Given the description of an element on the screen output the (x, y) to click on. 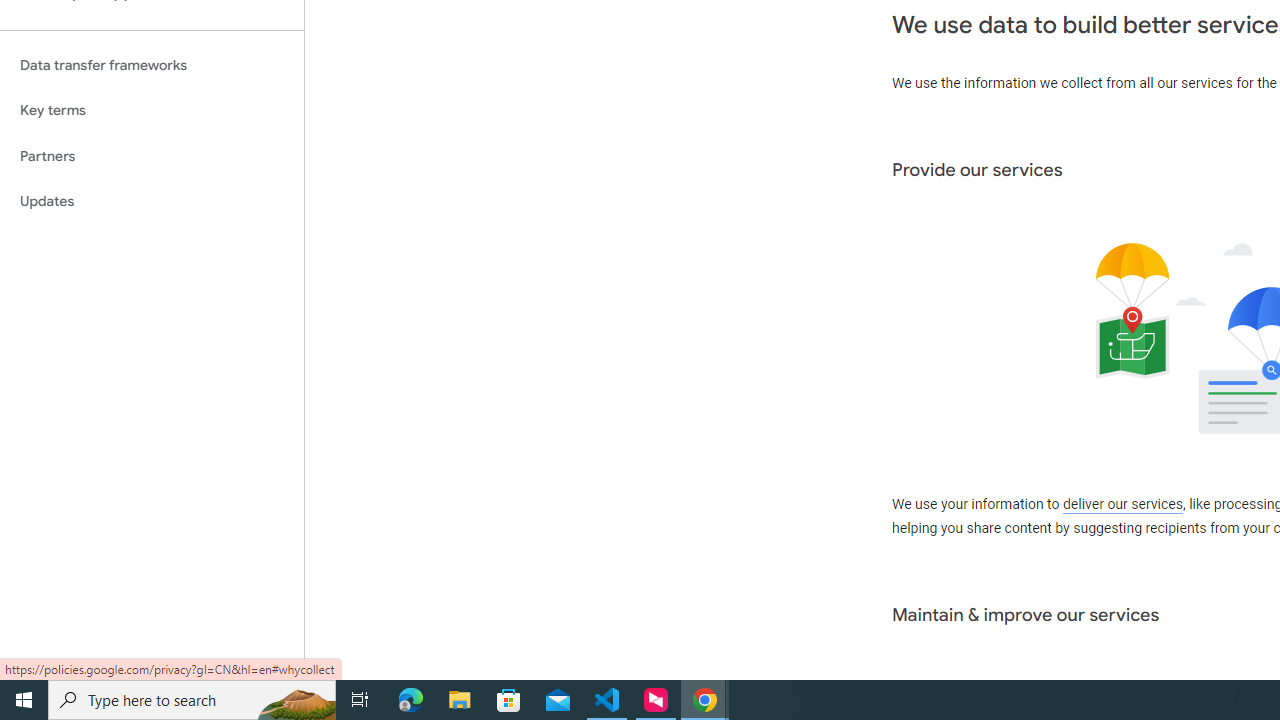
Data transfer frameworks (152, 65)
deliver our services (1122, 505)
Partners (152, 156)
Key terms (152, 110)
